Given the description of an element on the screen output the (x, y) to click on. 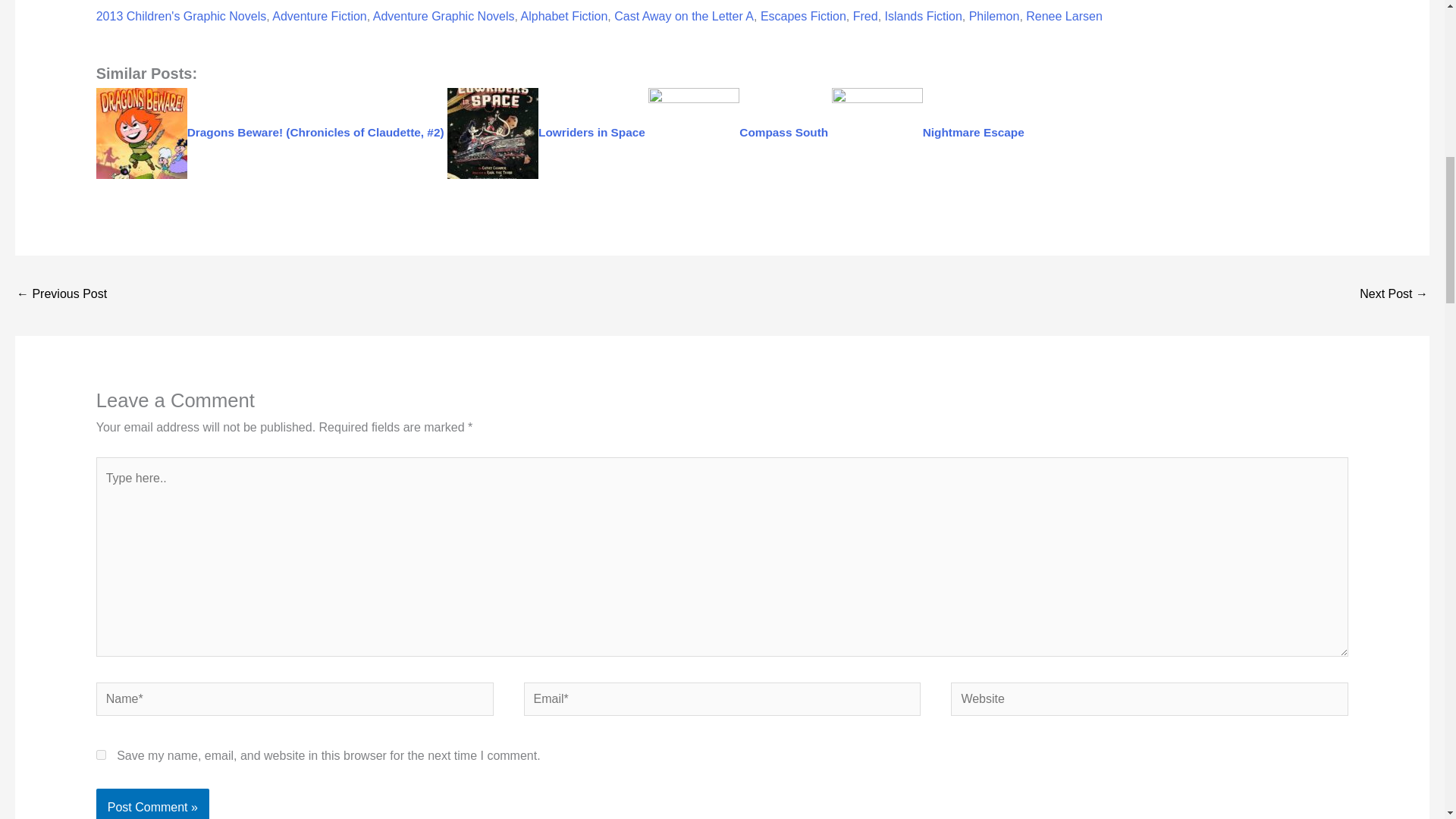
Lowriders in Space (545, 132)
Book: My Autobiography (1393, 295)
The Baseball Player and the Walrus (61, 295)
Compass South (737, 132)
Nightmare Escape (928, 132)
yes (101, 755)
